Given the description of an element on the screen output the (x, y) to click on. 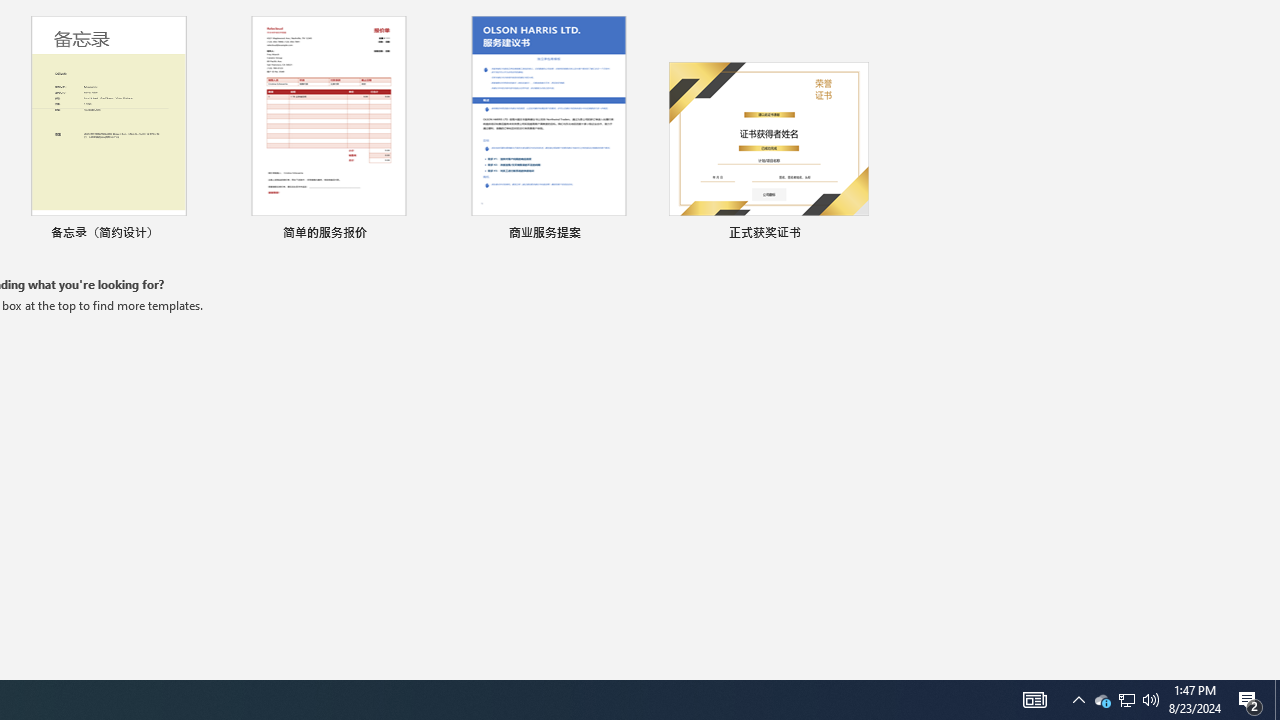
Pin to list (856, 234)
